Given the description of an element on the screen output the (x, y) to click on. 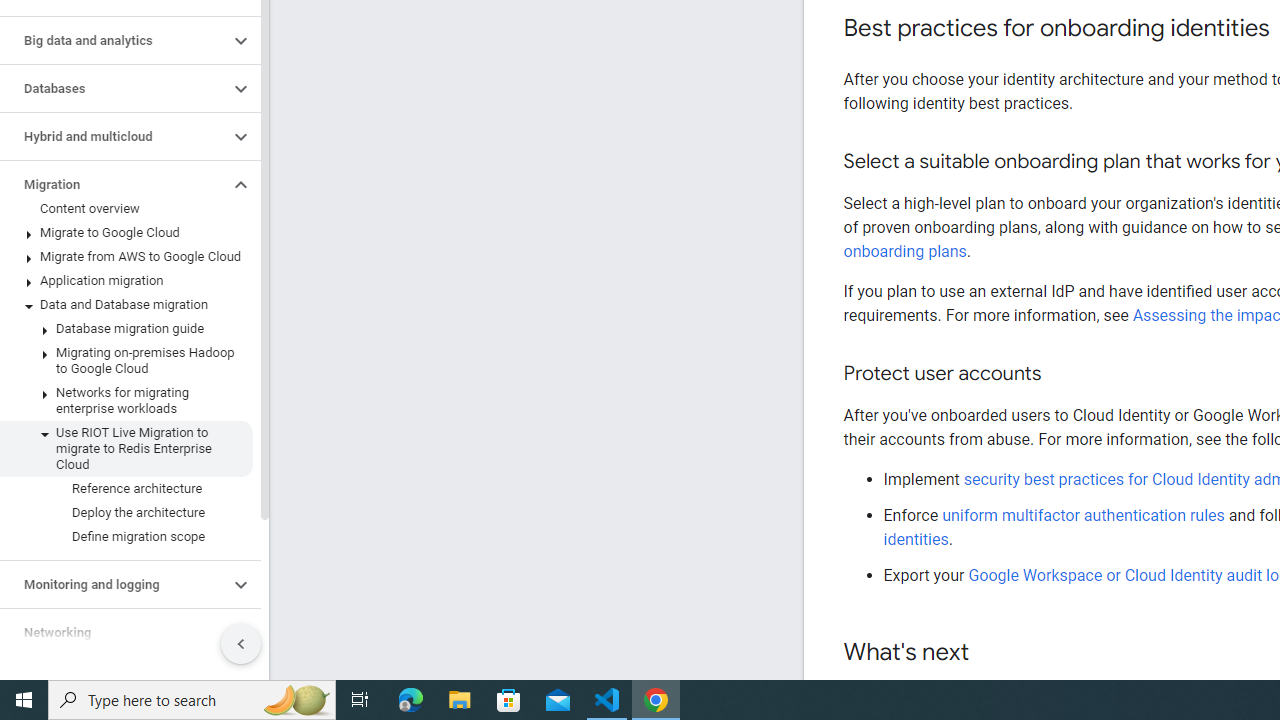
Reference architecture (126, 488)
Migration (114, 184)
Monitoring and logging (114, 584)
Migrating on-premises Hadoop to Google Cloud (126, 360)
Database migration guide (126, 328)
Copy link to this section: Protect user accounts (1060, 374)
Hide side navigation (241, 643)
Networks for migrating enterprise workloads (126, 400)
Reliability and disaster recovery (114, 680)
